Given the description of an element on the screen output the (x, y) to click on. 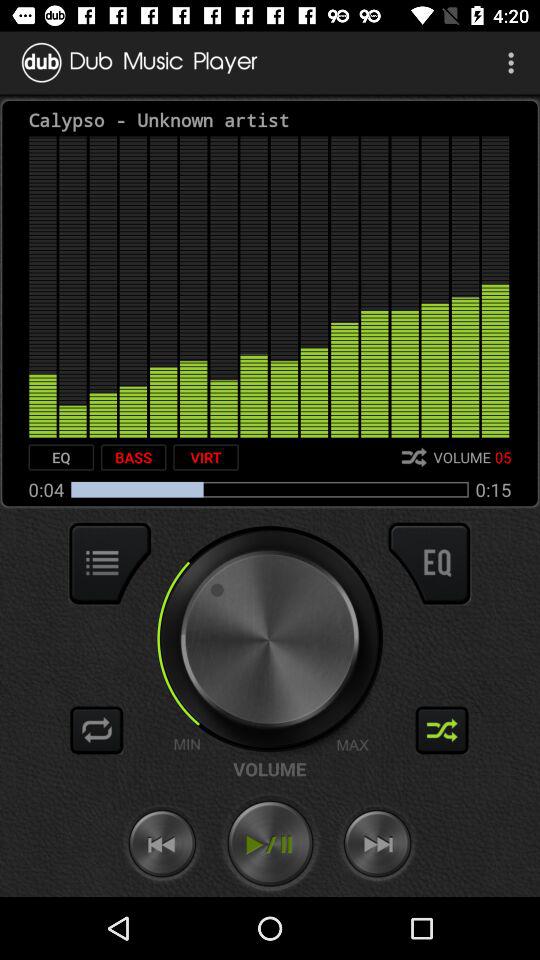
toggle equalizer (429, 563)
